Given the description of an element on the screen output the (x, y) to click on. 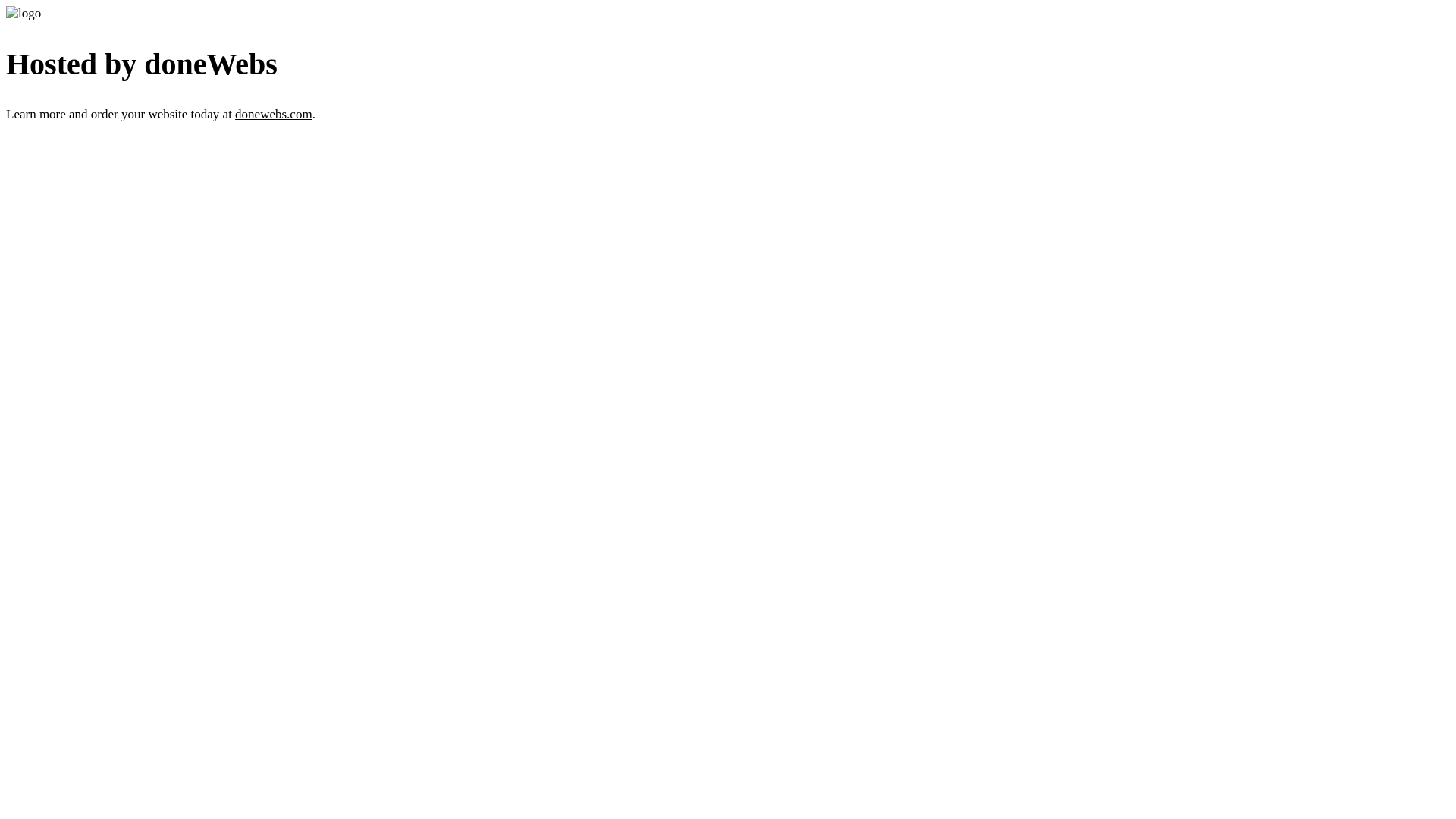
donewebs.com Element type: text (273, 113)
